Given the description of an element on the screen output the (x, y) to click on. 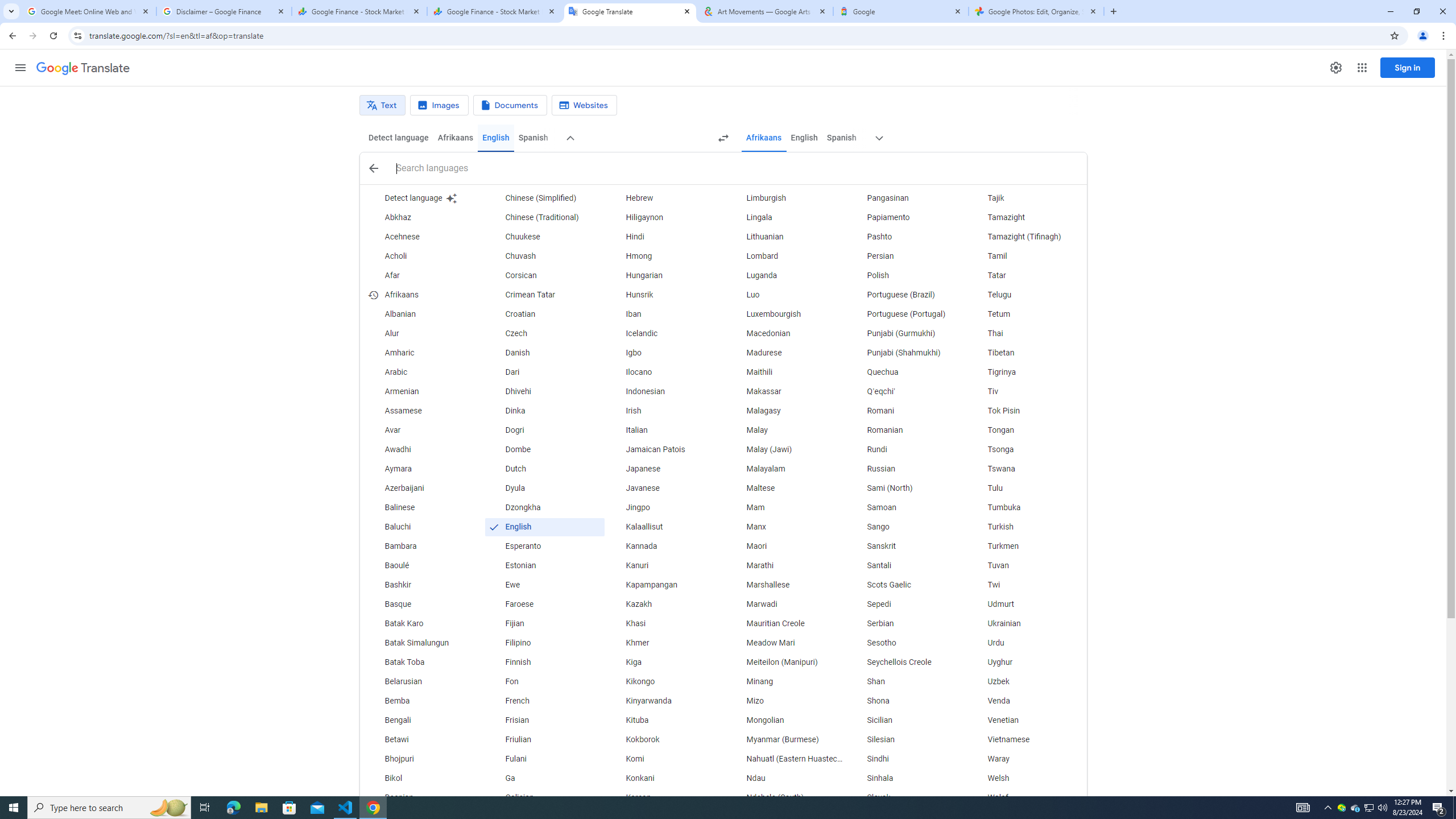
Chinese (Simplified) (544, 198)
Slovak (905, 797)
Icelandic (665, 334)
Irish (665, 411)
Detect language (423, 198)
Malay (785, 430)
Alur (423, 334)
Dhivehi (544, 391)
Santali (905, 565)
Bikol (423, 778)
Uyghur (1026, 662)
Spanish (840, 137)
Tatar (1026, 275)
